Given the description of an element on the screen output the (x, y) to click on. 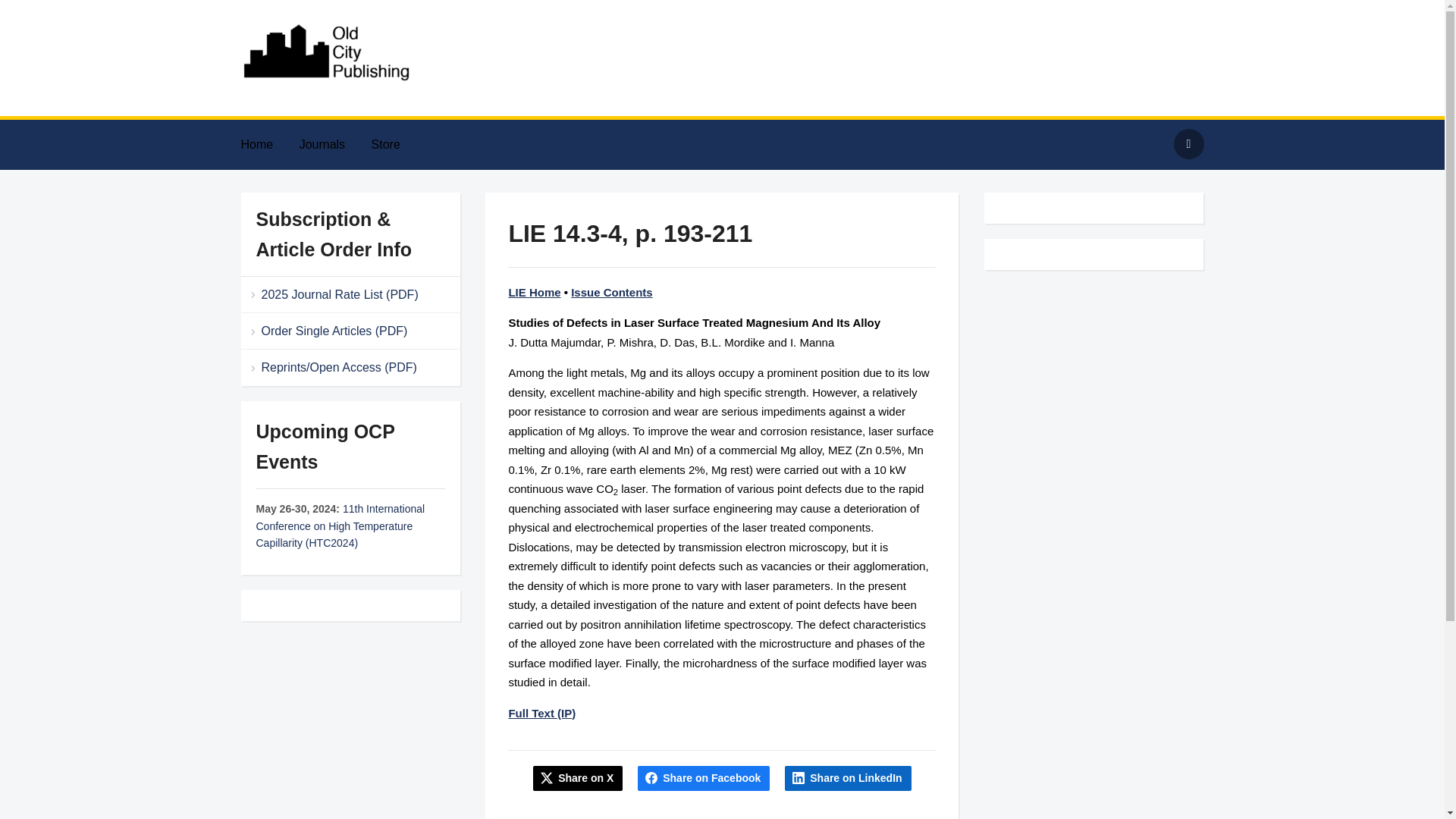
Share this on Facebook (703, 777)
Issue Contents (611, 291)
Share on LinkedIn (847, 777)
Search (1188, 143)
LIE Home (534, 291)
Home (269, 144)
Share this on X (577, 777)
Share on X (577, 777)
Share on Facebook (703, 777)
Journals (333, 144)
